Given the description of an element on the screen output the (x, y) to click on. 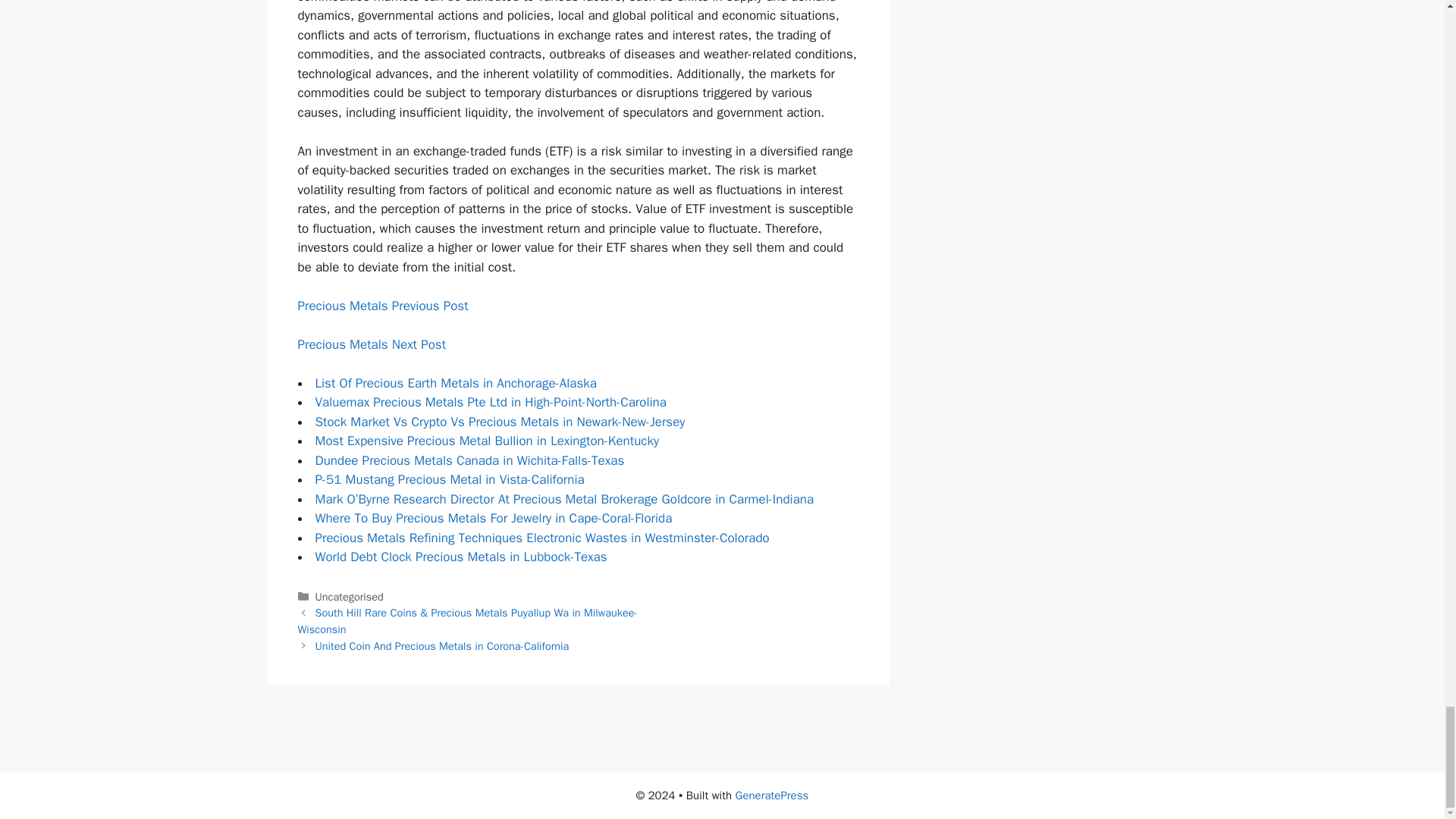
Precious Metals Previous Post (382, 305)
World Debt Clock Precious Metals in Lubbock-Texas (461, 556)
World Debt Clock Precious Metals in Lubbock-Texas (461, 556)
List Of Precious Earth Metals in Anchorage-Alaska (455, 383)
GeneratePress (772, 795)
Most Expensive Precious Metal Bullion in Lexington-Kentucky (487, 440)
Most Expensive Precious Metal Bullion in Lexington-Kentucky (487, 440)
